Given the description of an element on the screen output the (x, y) to click on. 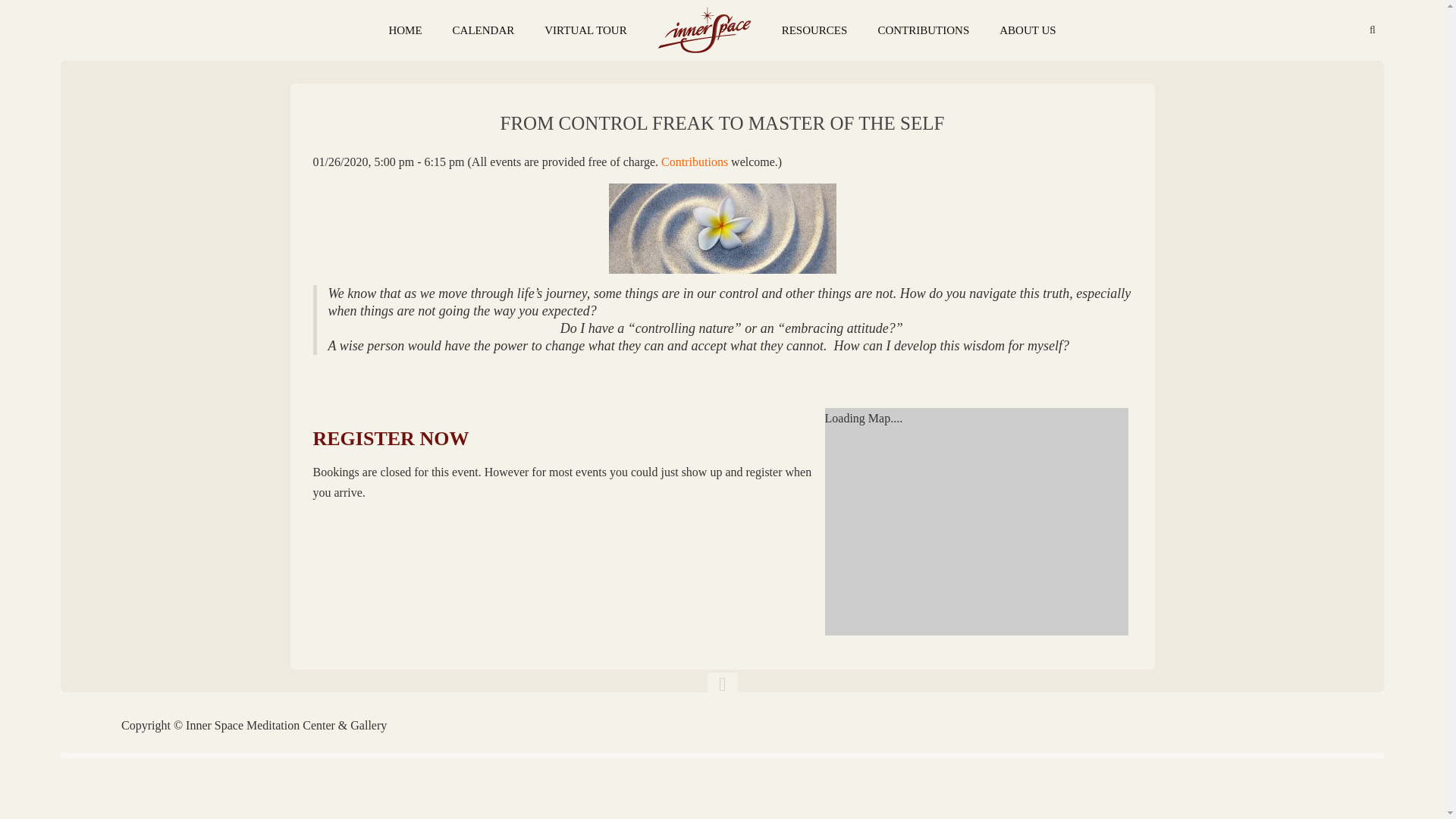
VIRTUAL TOUR (585, 30)
CONTRIBUTIONS (922, 30)
CALENDAR (483, 30)
Contributions (694, 161)
HOME (404, 30)
ABOUT US (1027, 30)
RESOURCES (815, 30)
